Given the description of an element on the screen output the (x, y) to click on. 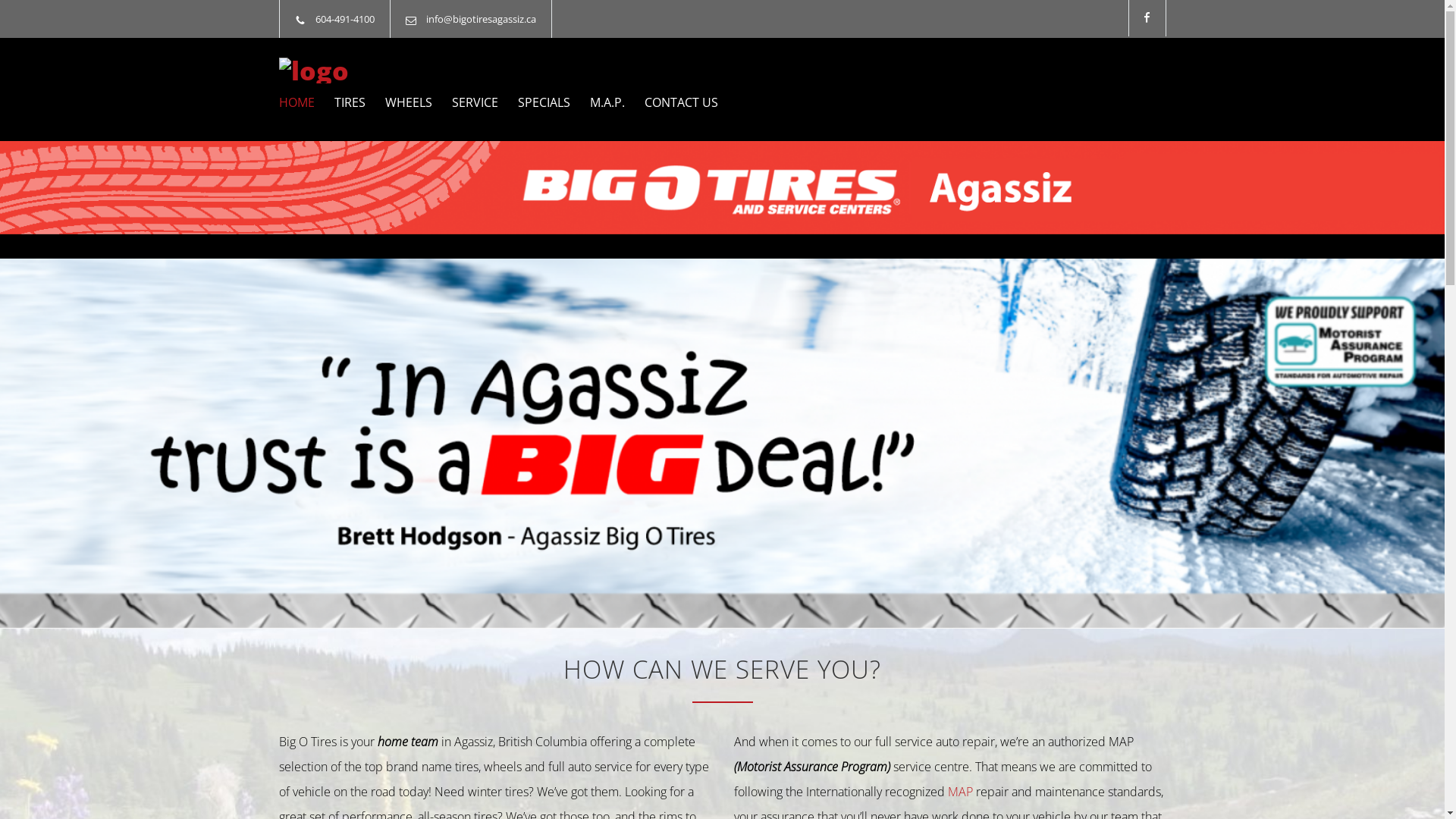
CONTACT US Element type: text (671, 102)
(Motorist Assurance Program) Element type: text (813, 766)
SPECIALS Element type: text (533, 102)
WHEELS Element type: text (398, 102)
M.A.P. Element type: text (597, 102)
TIRES Element type: text (338, 102)
HOME Element type: text (296, 102)
SERVICE Element type: text (465, 102)
info@bigotiresagassiz.ca Element type: text (481, 18)
MAP Element type: text (959, 791)
Big O Tires Agassiz Element type: hover (419, 70)
